Given the description of an element on the screen output the (x, y) to click on. 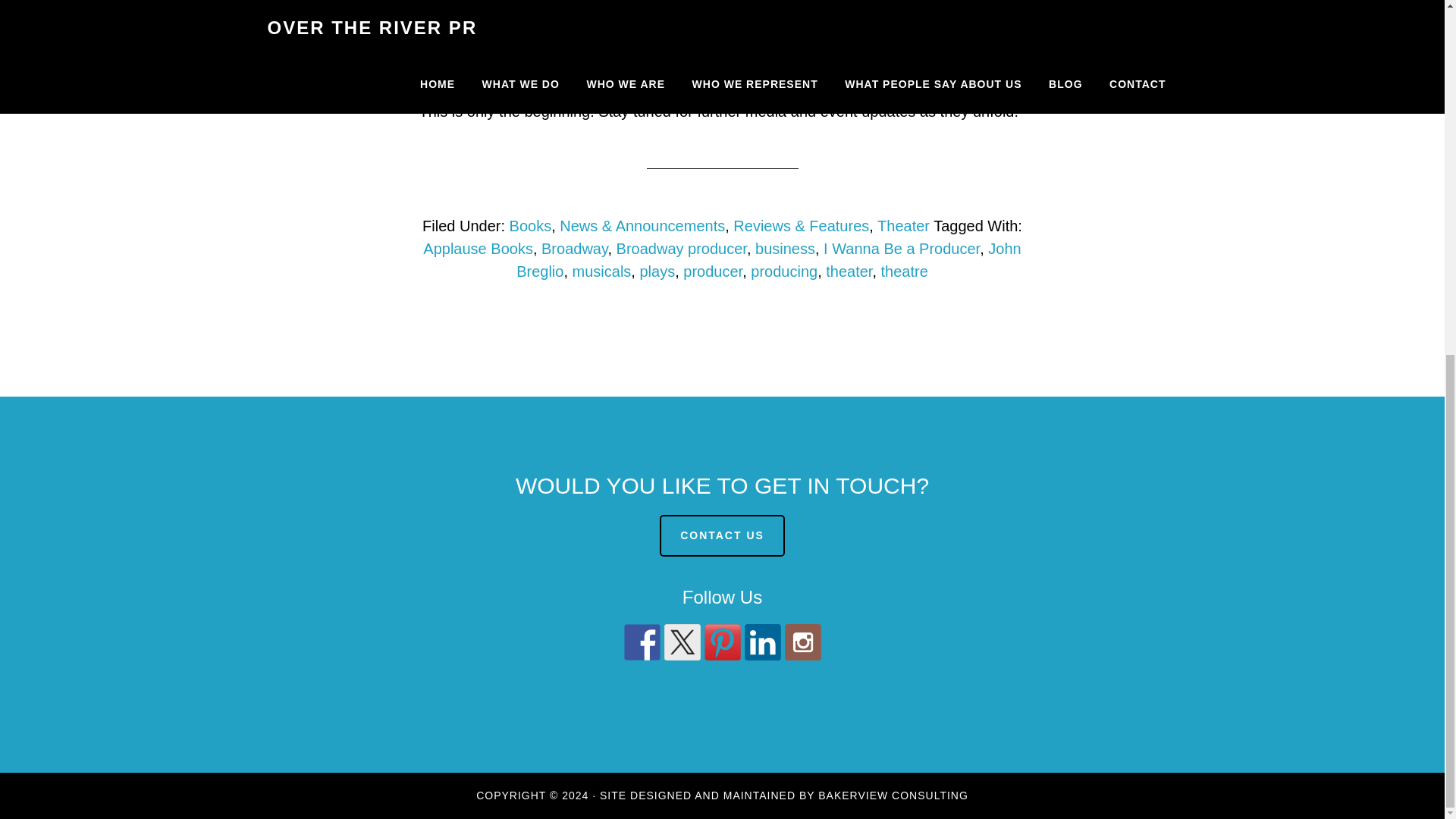
Book Pleasures (531, 43)
producing (783, 271)
Applause Books (477, 248)
Books (530, 225)
CONTACT US (721, 535)
plays (657, 271)
John Breglio (768, 260)
Find us on Linkedin (762, 642)
Center on the Aisle (512, 2)
Our board on Pinterest (721, 642)
theatre (904, 271)
producer (712, 271)
theater (848, 271)
Check out our instagram feed (802, 642)
business (785, 248)
